Given the description of an element on the screen output the (x, y) to click on. 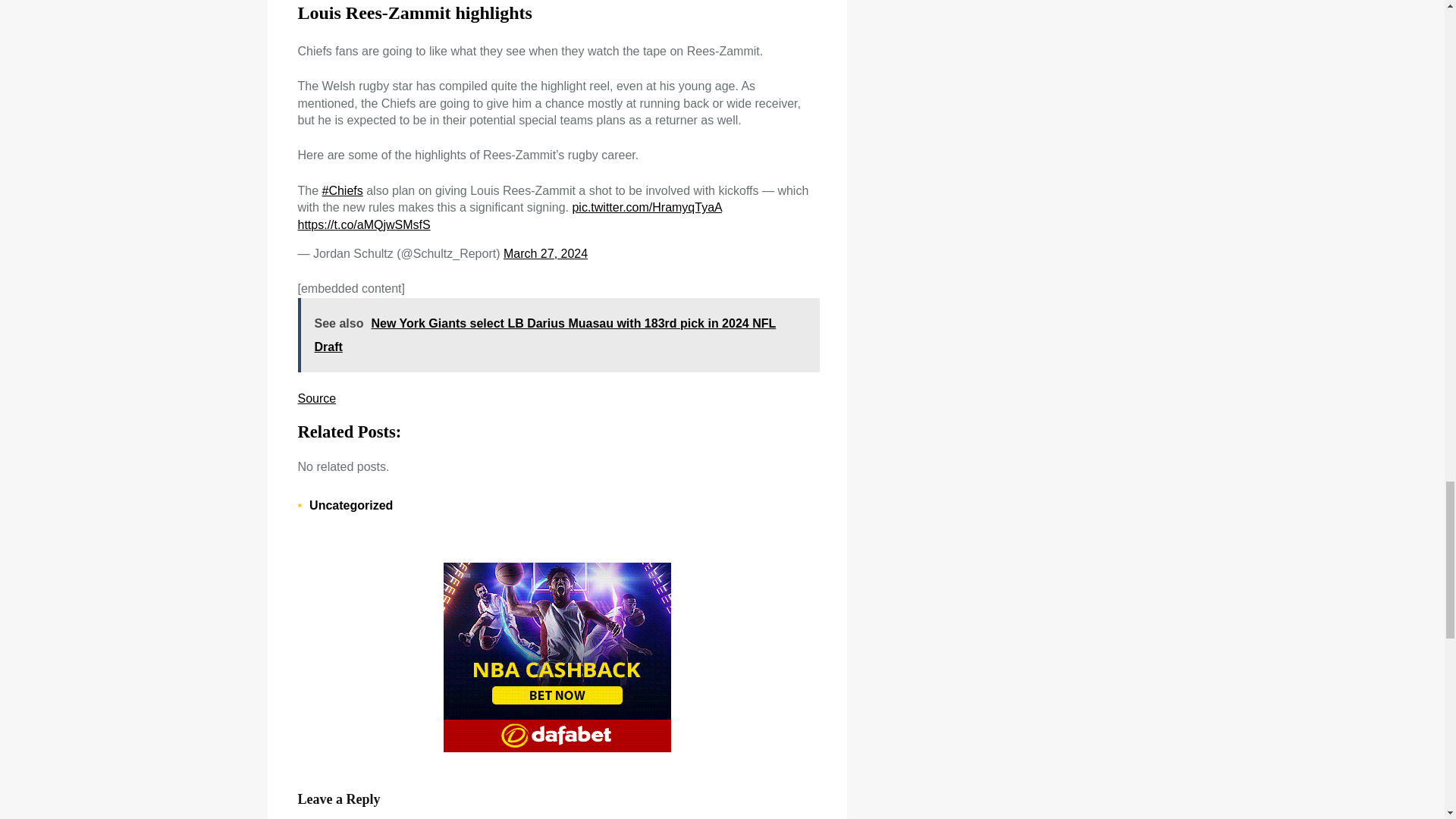
Source (316, 398)
Uncategorized (350, 504)
March 27, 2024 (545, 253)
